Given the description of an element on the screen output the (x, y) to click on. 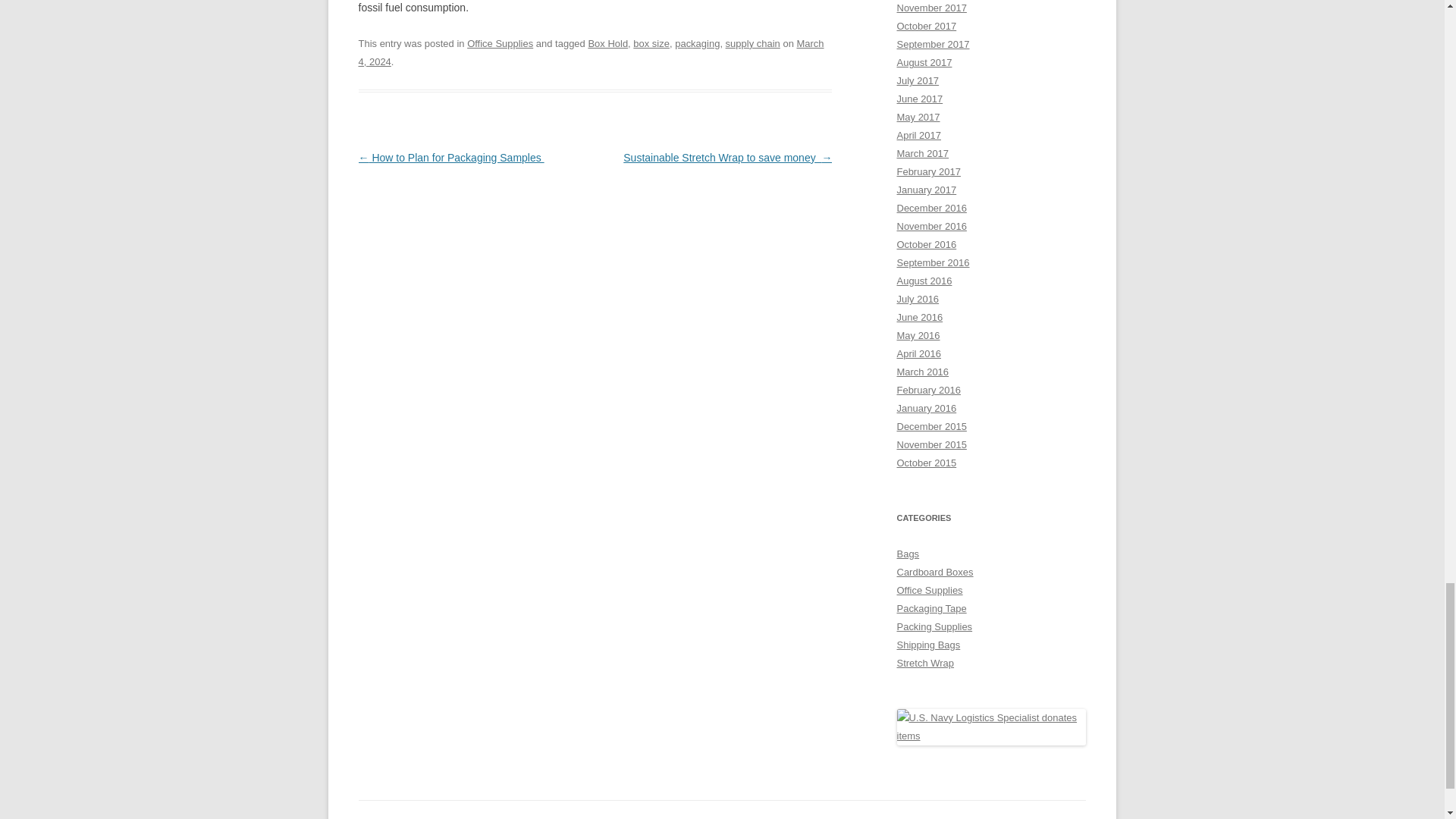
12:32 pm (591, 52)
Box Hold (607, 43)
supply chain (752, 43)
box size (651, 43)
packaging (697, 43)
Office Supplies (499, 43)
March 4, 2024 (591, 52)
